Given the description of an element on the screen output the (x, y) to click on. 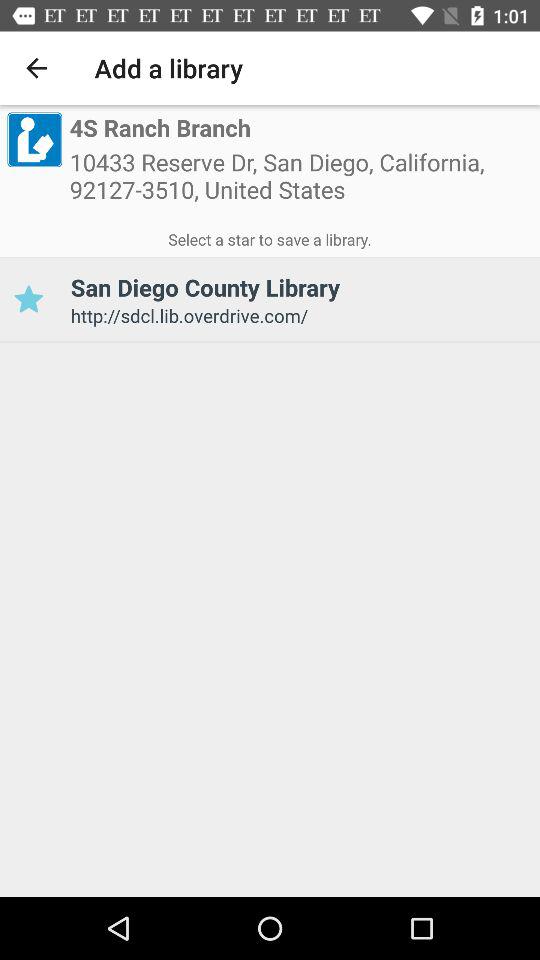
turn off http sdcl lib icon (298, 315)
